Given the description of an element on the screen output the (x, y) to click on. 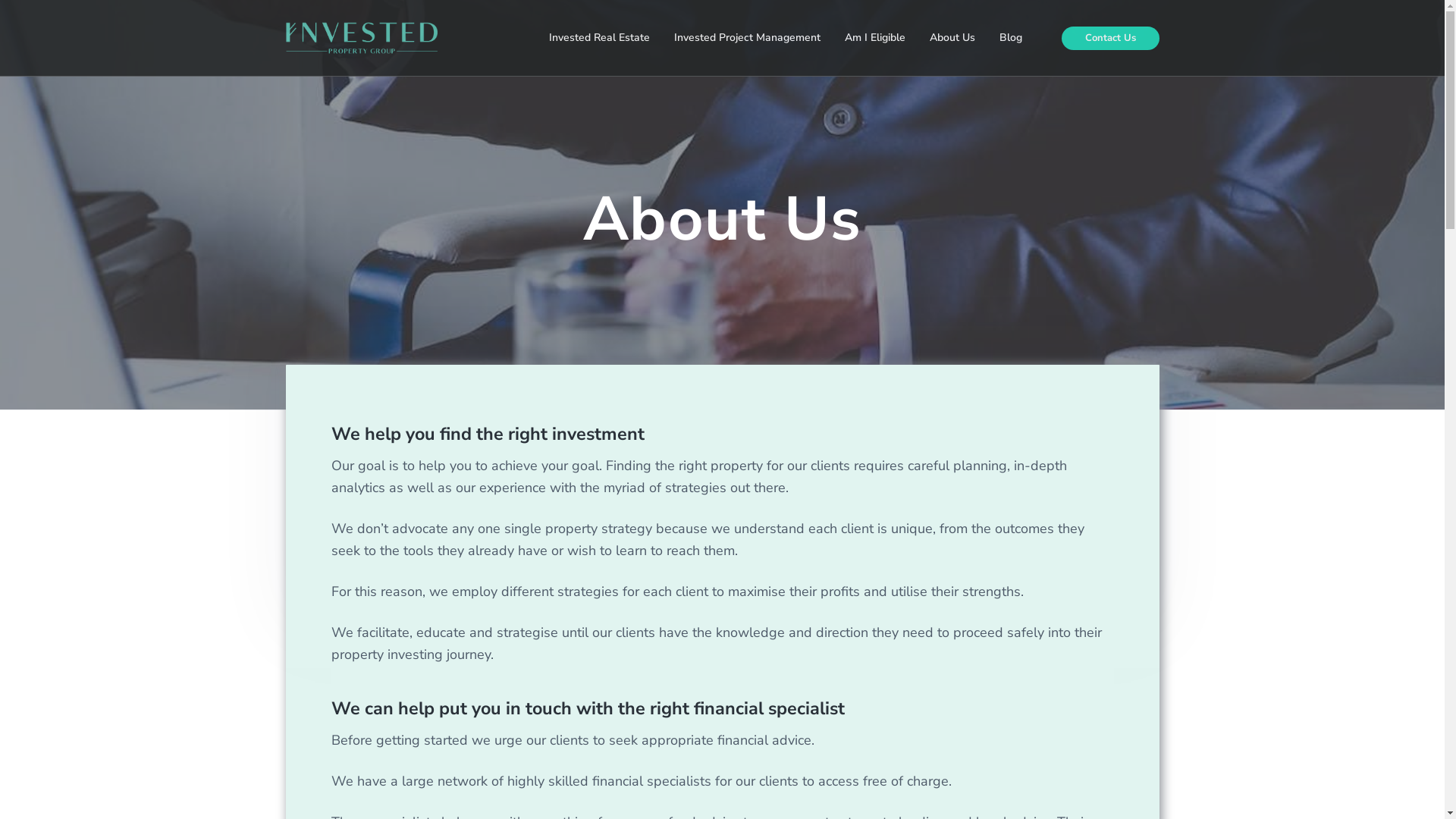
Skip to primary navigation Element type: text (0, 0)
Am I Eligible Element type: text (874, 38)
Contact Us Element type: text (1109, 38)
Invested Property Group Element type: text (289, 199)
cropped-Invested-Logo-w-Lines-3.png Element type: hover (360, 37)
Invested Real Estate Element type: text (599, 38)
About Us Element type: text (952, 38)
Invested Project Management Element type: text (747, 38)
Blog Element type: text (1010, 38)
